Given the description of an element on the screen output the (x, y) to click on. 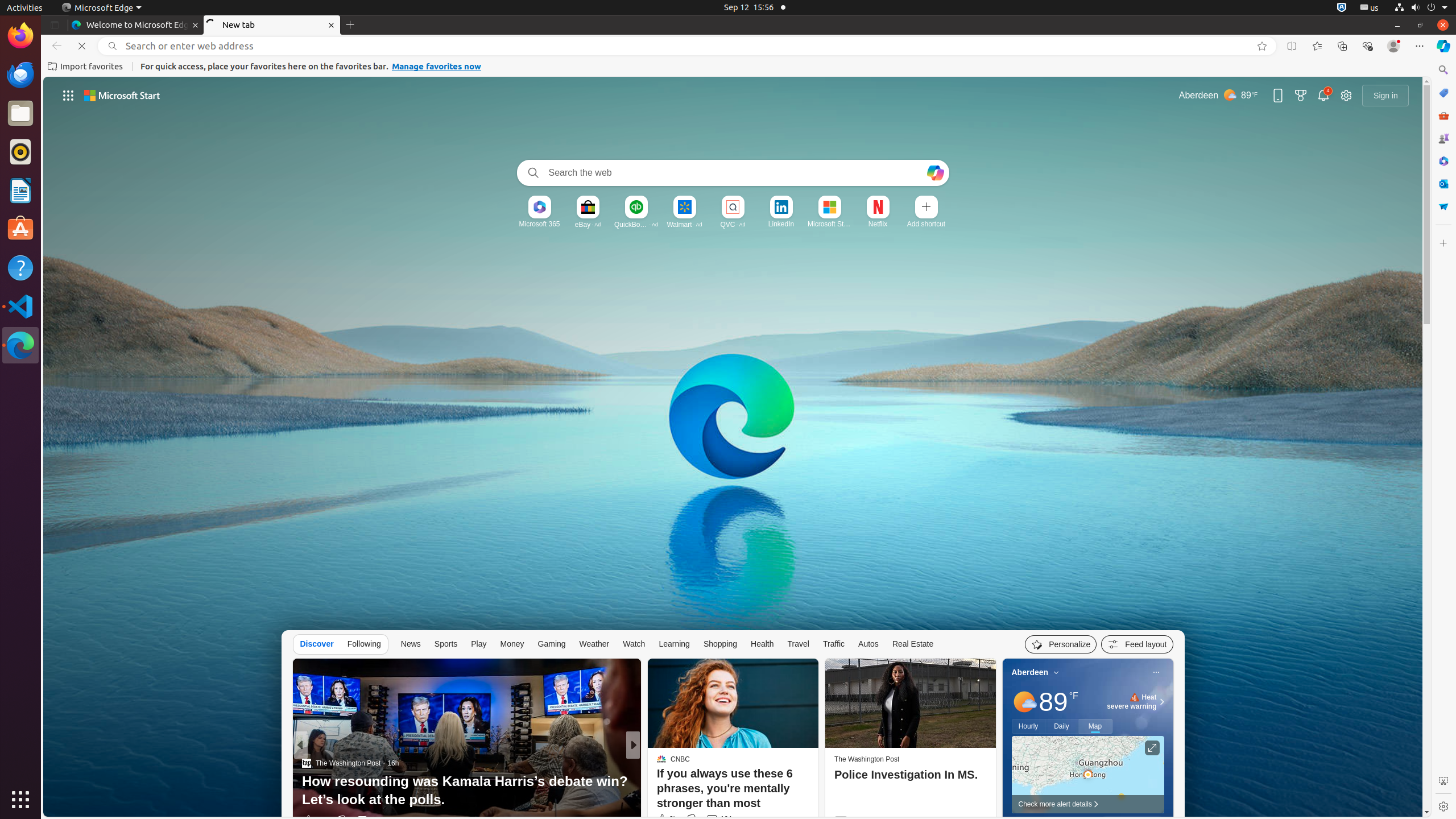
Travel Element type: link (798, 643)
I’ve Been a Hiring Manager for 12 Years—Here’s Why You’re Not Getting Hired Element type: link (816, 790)
Page settings Element type: push-button (1345, 95)
New EmStat4S potentiostat Element type: link (816, 799)
Personalize your feed" Element type: push-button (1060, 644)
